Given the description of an element on the screen output the (x, y) to click on. 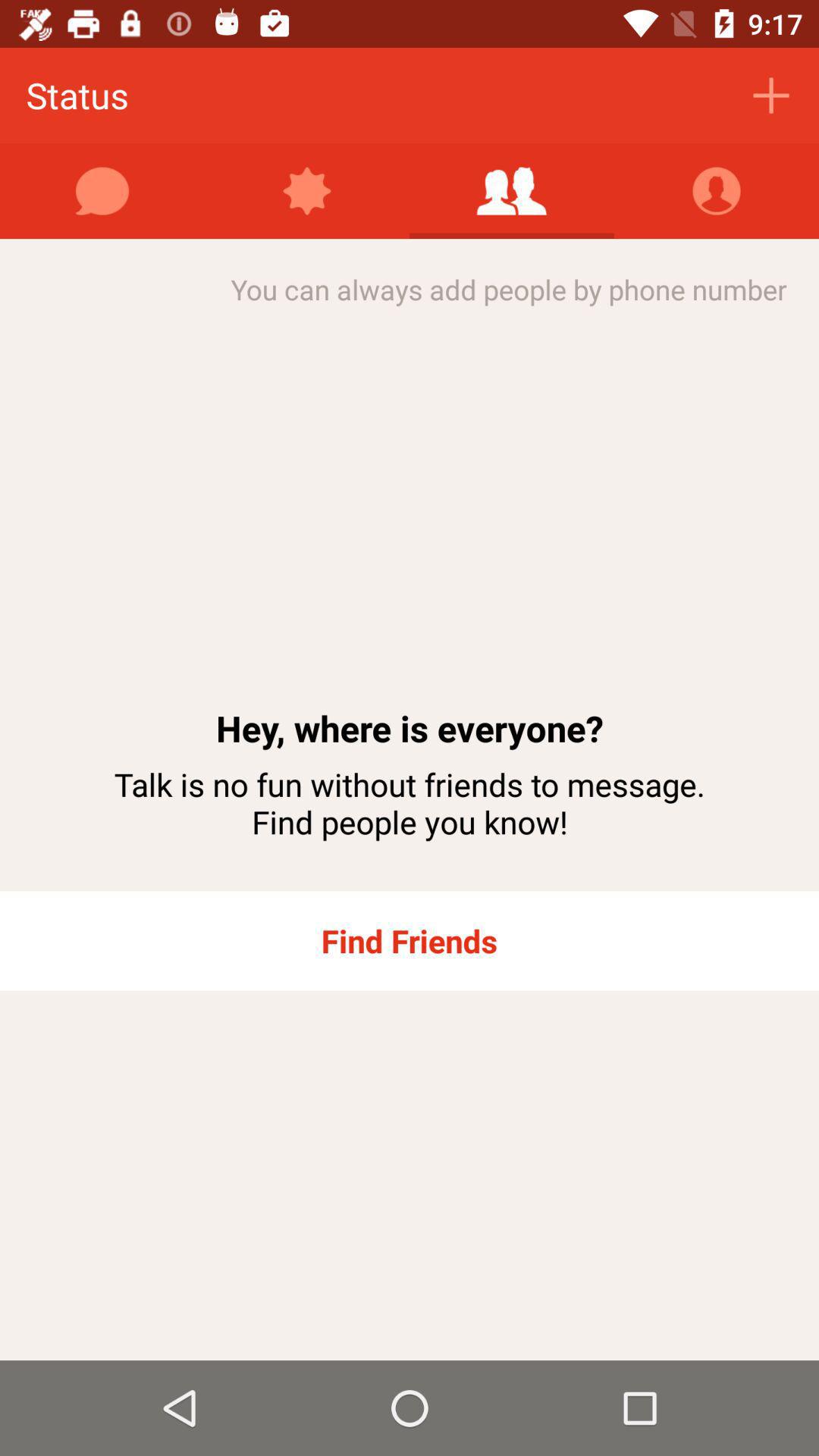
click item above the you can always icon (306, 190)
